Given the description of an element on the screen output the (x, y) to click on. 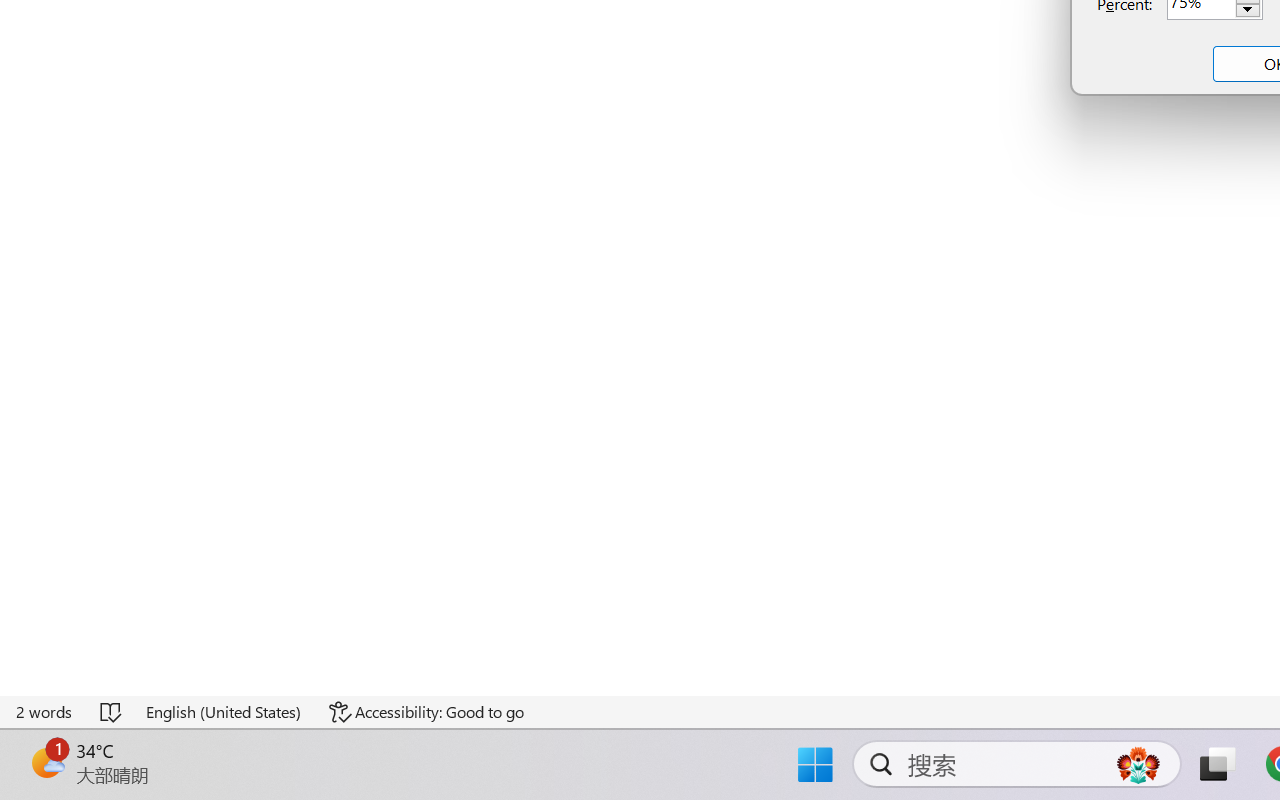
Spelling and Grammar Check No Errors (112, 712)
Word Count 2 words (45, 712)
Accessibility Checker Accessibility: Good to go (426, 712)
AutomationID: DynamicSearchBoxGleamImage (1138, 764)
AutomationID: BadgeAnchorLargeTicker (46, 762)
Language English (United States) (224, 712)
